Given the description of an element on the screen output the (x, y) to click on. 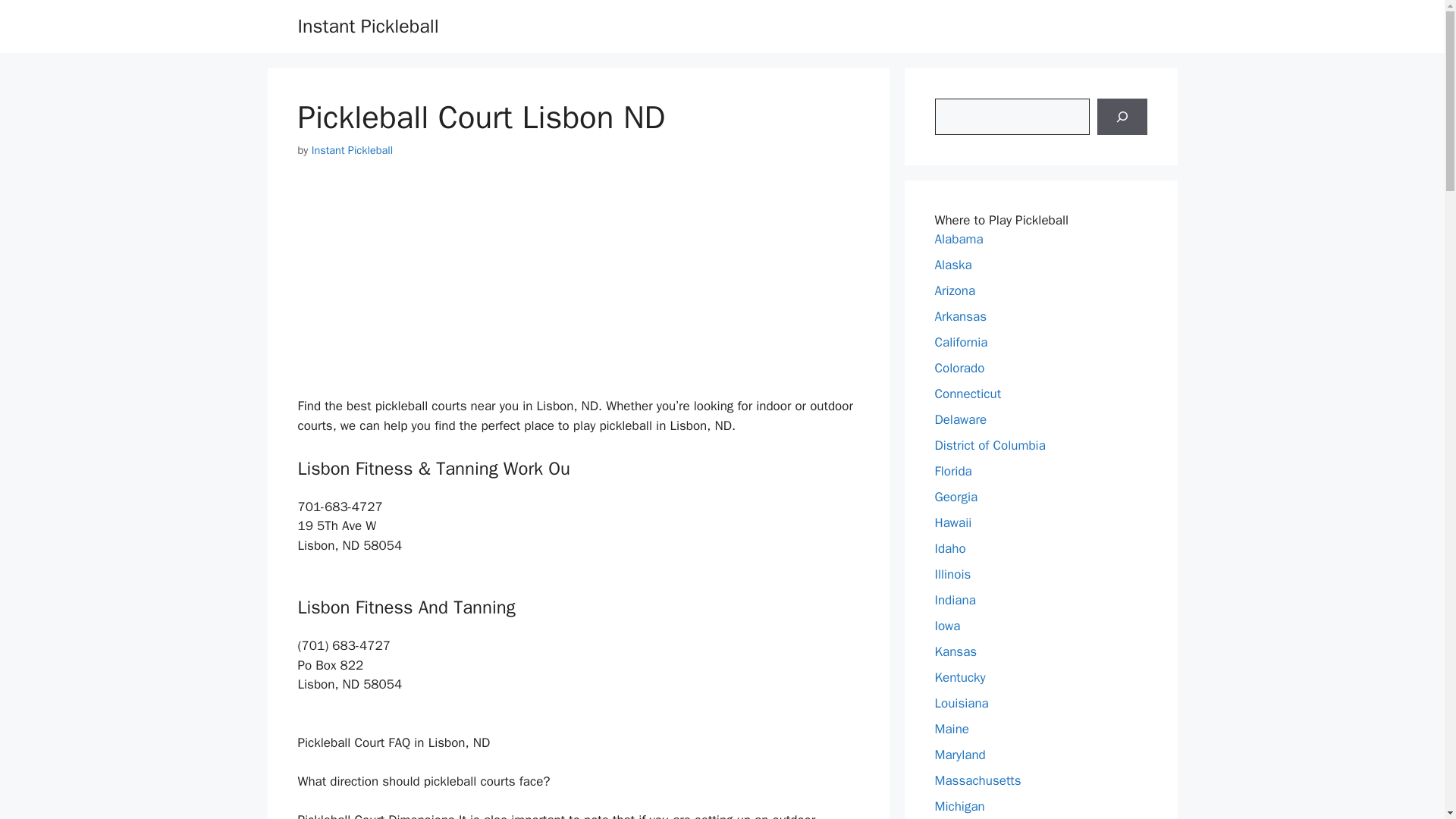
Delaware (960, 419)
California (960, 342)
Arkansas (960, 316)
Colorado (959, 367)
Idaho (949, 548)
Alabama (958, 238)
Illinois (952, 574)
Florida (952, 471)
Louisiana (961, 703)
Instant Pickleball (352, 150)
District of Columbia (989, 445)
Maine (951, 729)
Arizona (954, 290)
Massachusetts (977, 780)
Hawaii (952, 522)
